Given the description of an element on the screen output the (x, y) to click on. 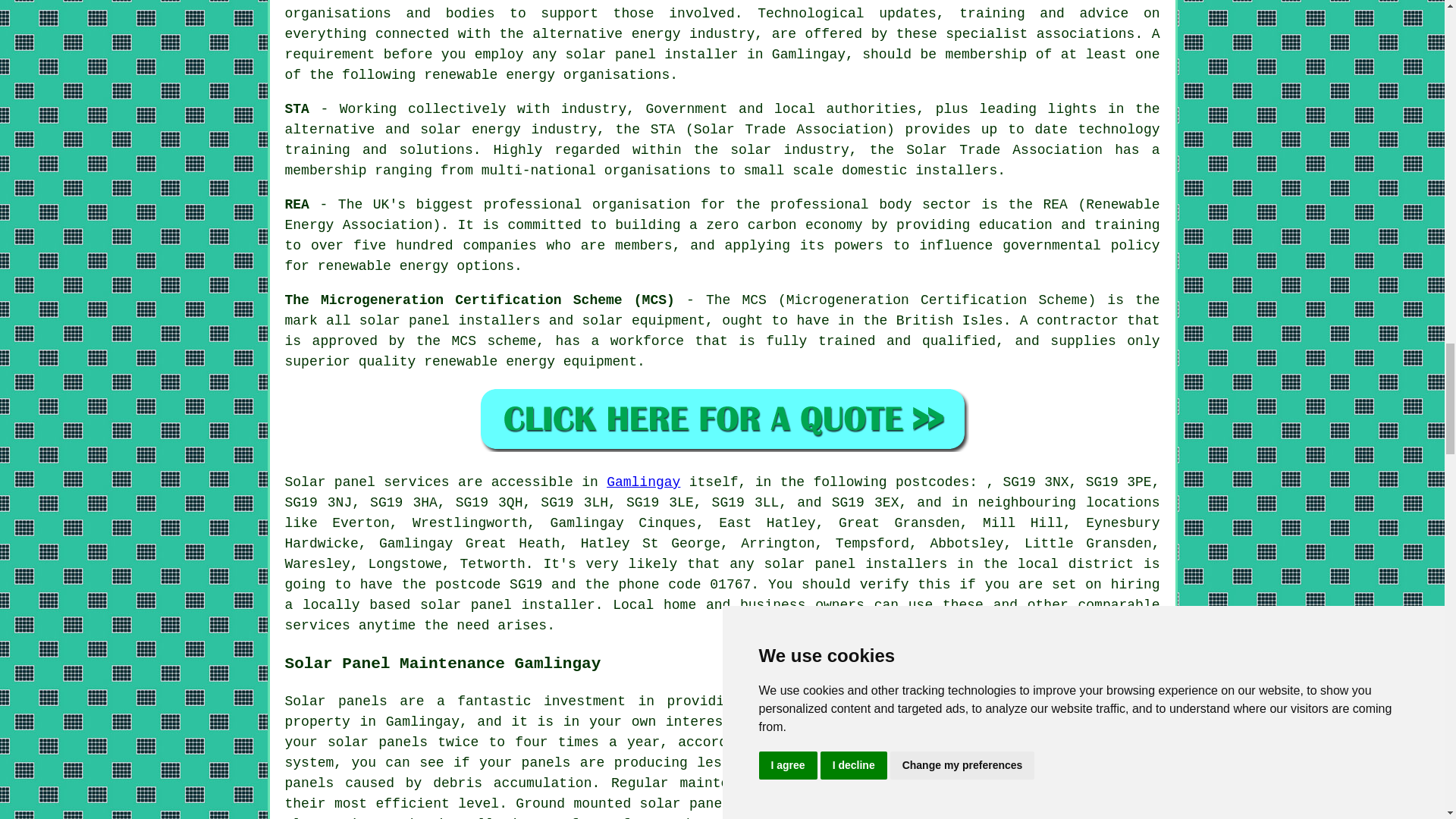
Ground mounted solar panels (626, 803)
Solar Panel Installation Quotes in Gamlingay (722, 418)
renewable energy (1009, 701)
